Given the description of an element on the screen output the (x, y) to click on. 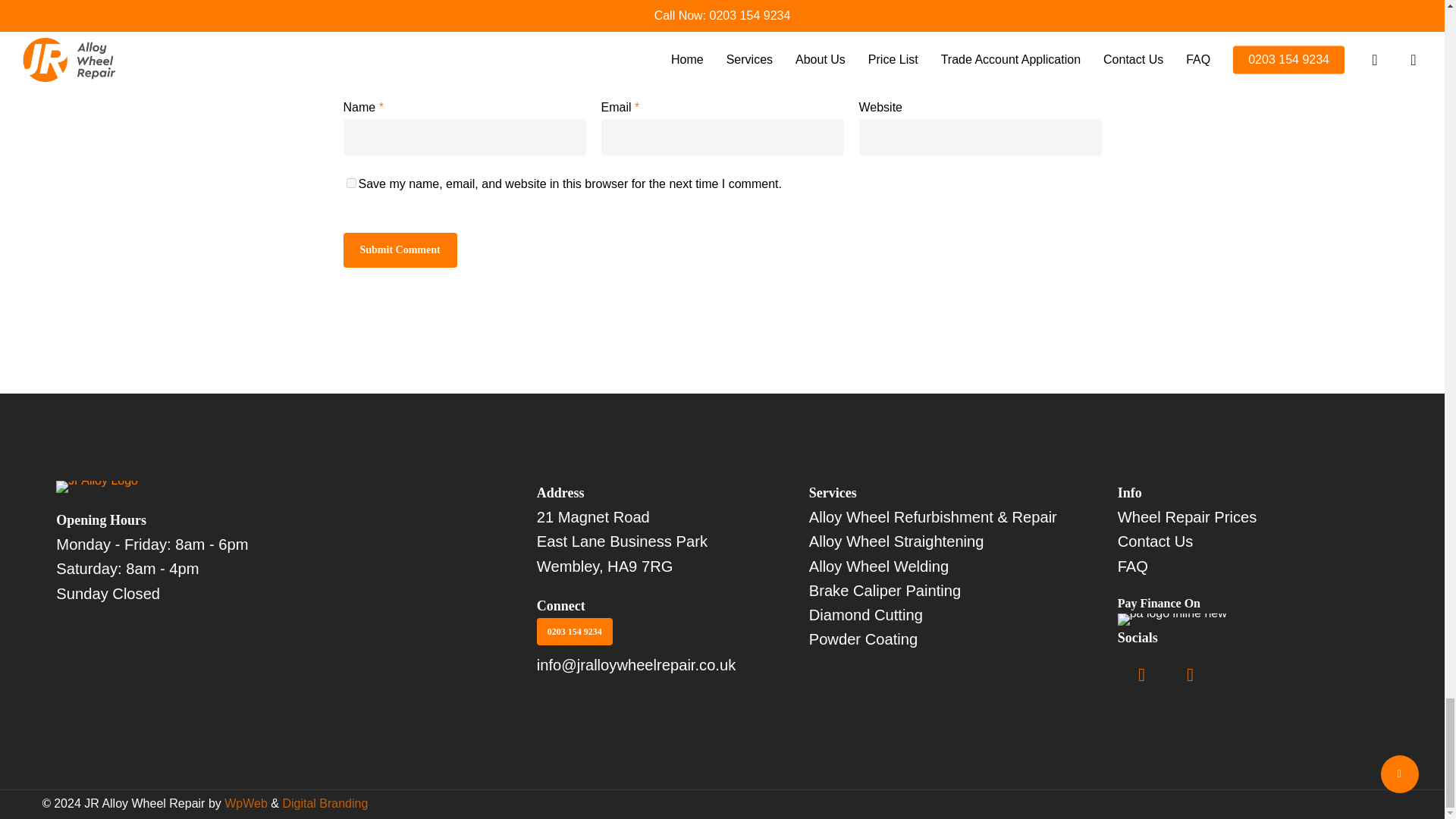
0203 154 9234 (574, 631)
Alloy Wheel Welding (944, 566)
yes (350, 183)
Alloy Wheel Straightening (944, 541)
Submit Comment (399, 249)
Submit Comment (399, 249)
